Given the description of an element on the screen output the (x, y) to click on. 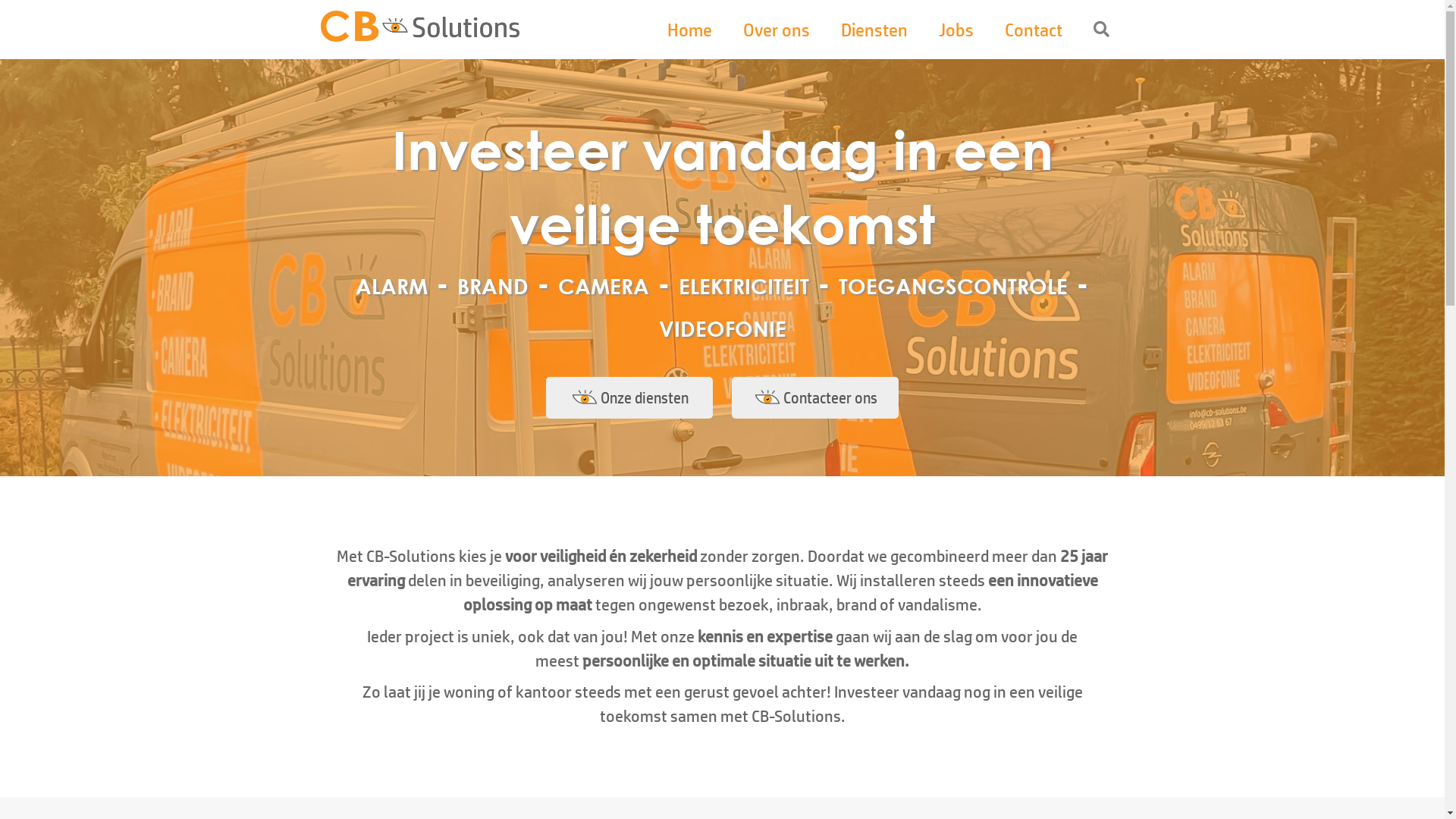
Over ons Element type: text (776, 29)
cb-solutions-logo-1 Element type: hover (419, 25)
Jobs Element type: text (955, 29)
Home Element type: text (689, 29)
Diensten Element type: text (873, 29)
Contact Element type: text (1032, 29)
Onze diensten Element type: text (629, 397)
Contacteer ons Element type: text (814, 397)
